Given the description of an element on the screen output the (x, y) to click on. 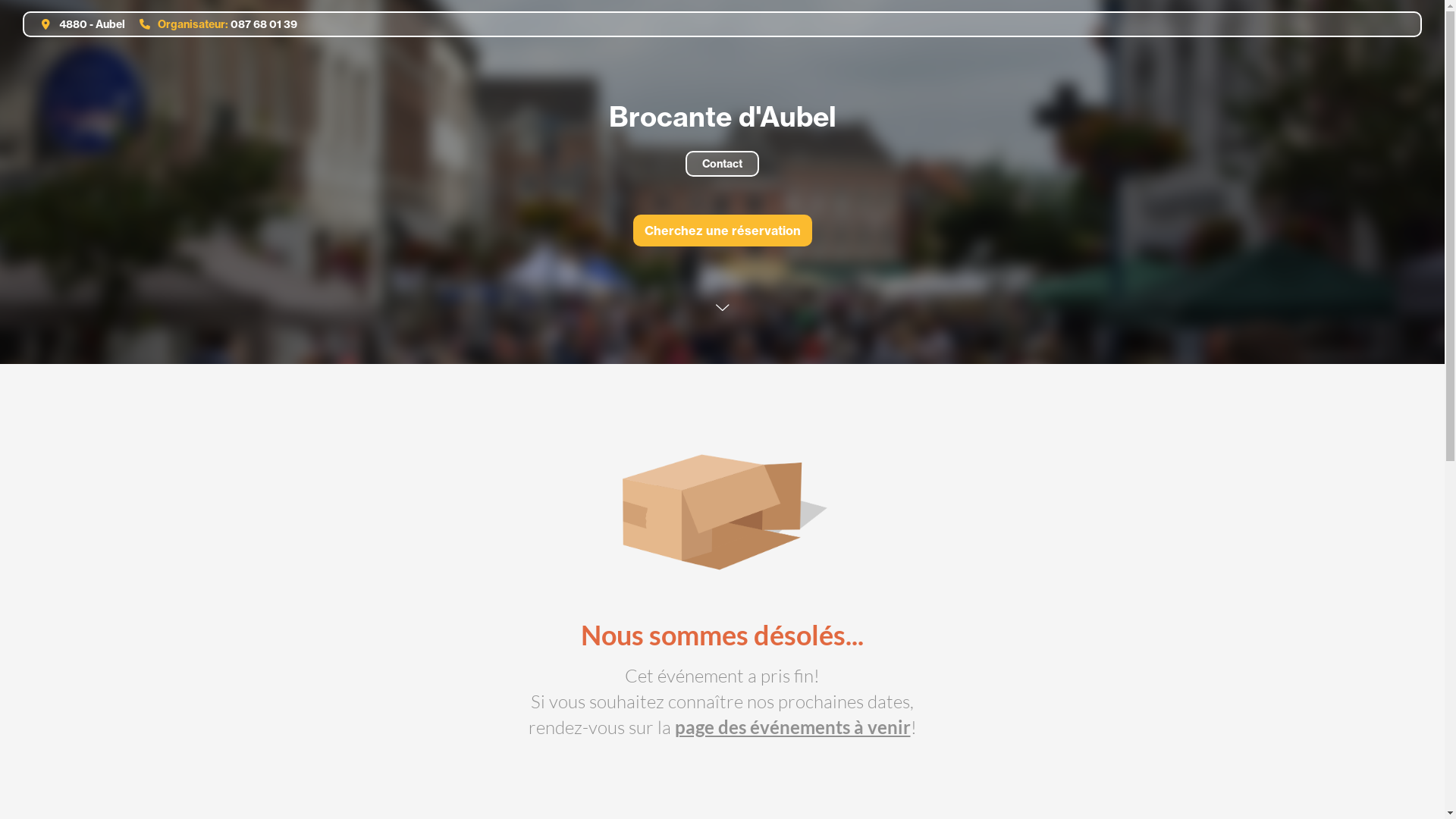
4880 - Aubel Element type: text (77, 24)
Contact Element type: text (722, 163)
Organisateur: 087 68 01 39 Element type: text (212, 24)
